Given the description of an element on the screen output the (x, y) to click on. 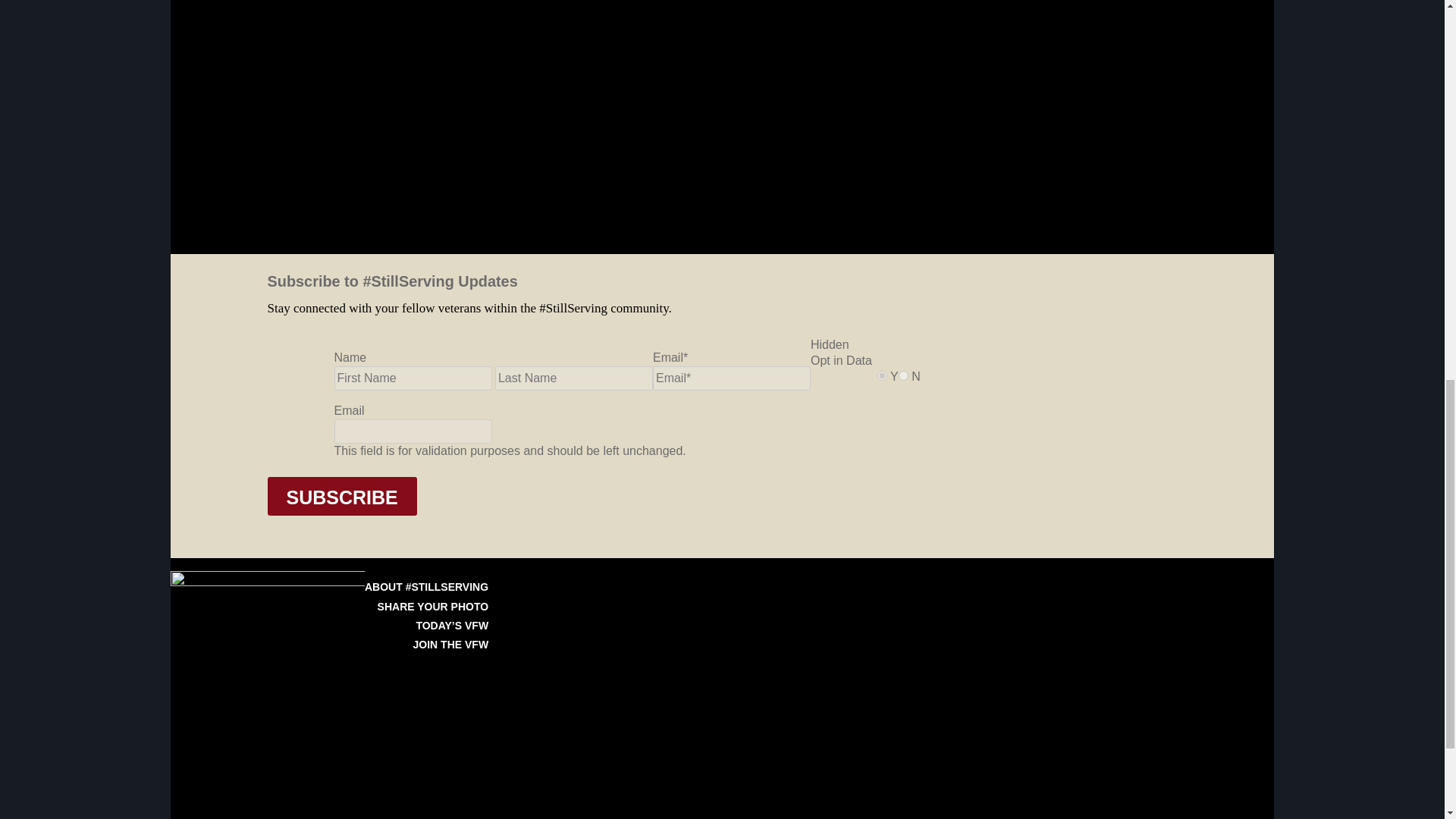
SUBSCRIBE (341, 495)
SHARE YOUR PHOTO (433, 606)
Y (881, 375)
JOIN THE VFW (451, 644)
N (903, 375)
SUBSCRIBE (341, 495)
